Given the description of an element on the screen output the (x, y) to click on. 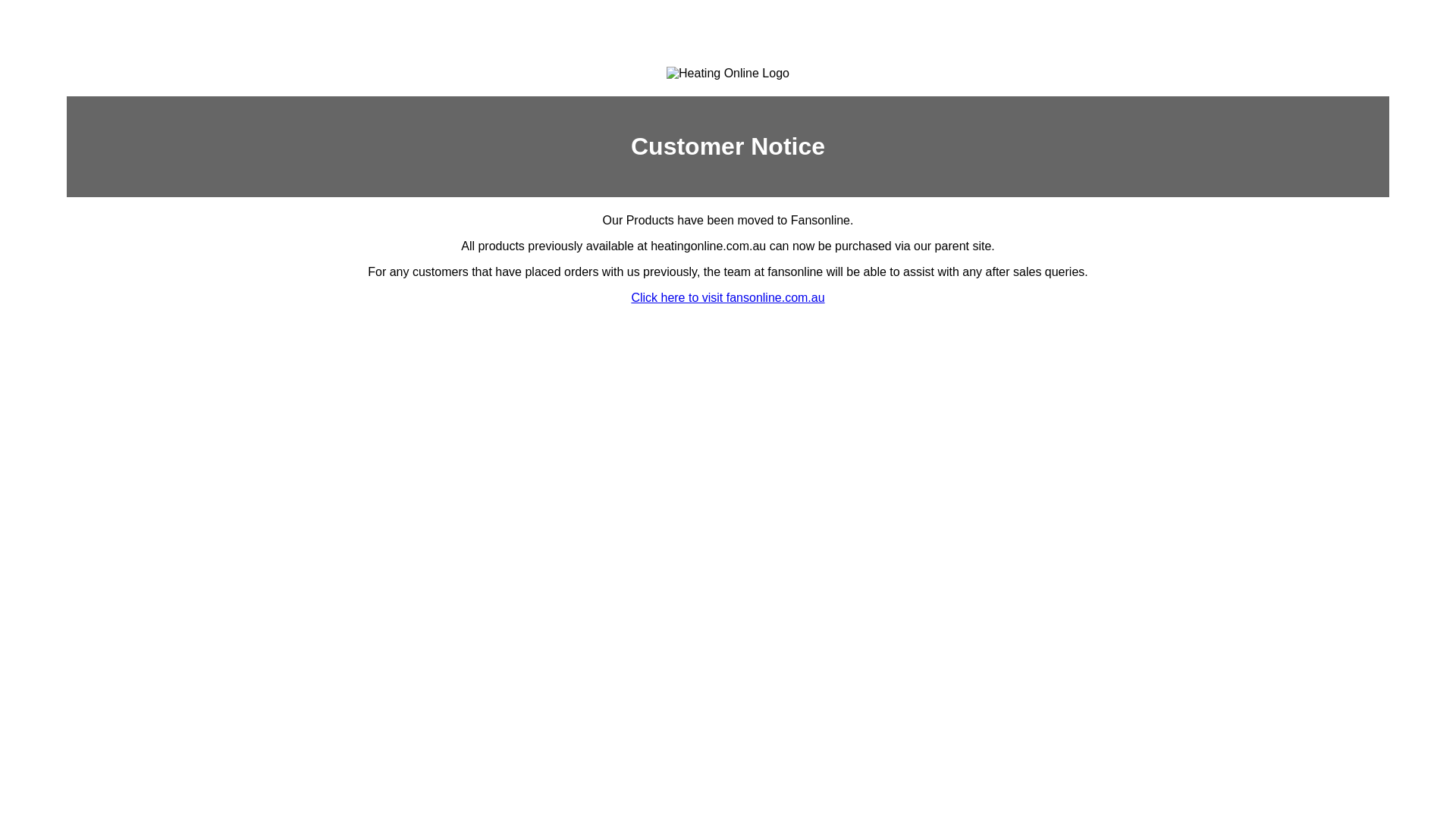
Click here to visit fansonline.com.au (727, 297)
